Given the description of an element on the screen output the (x, y) to click on. 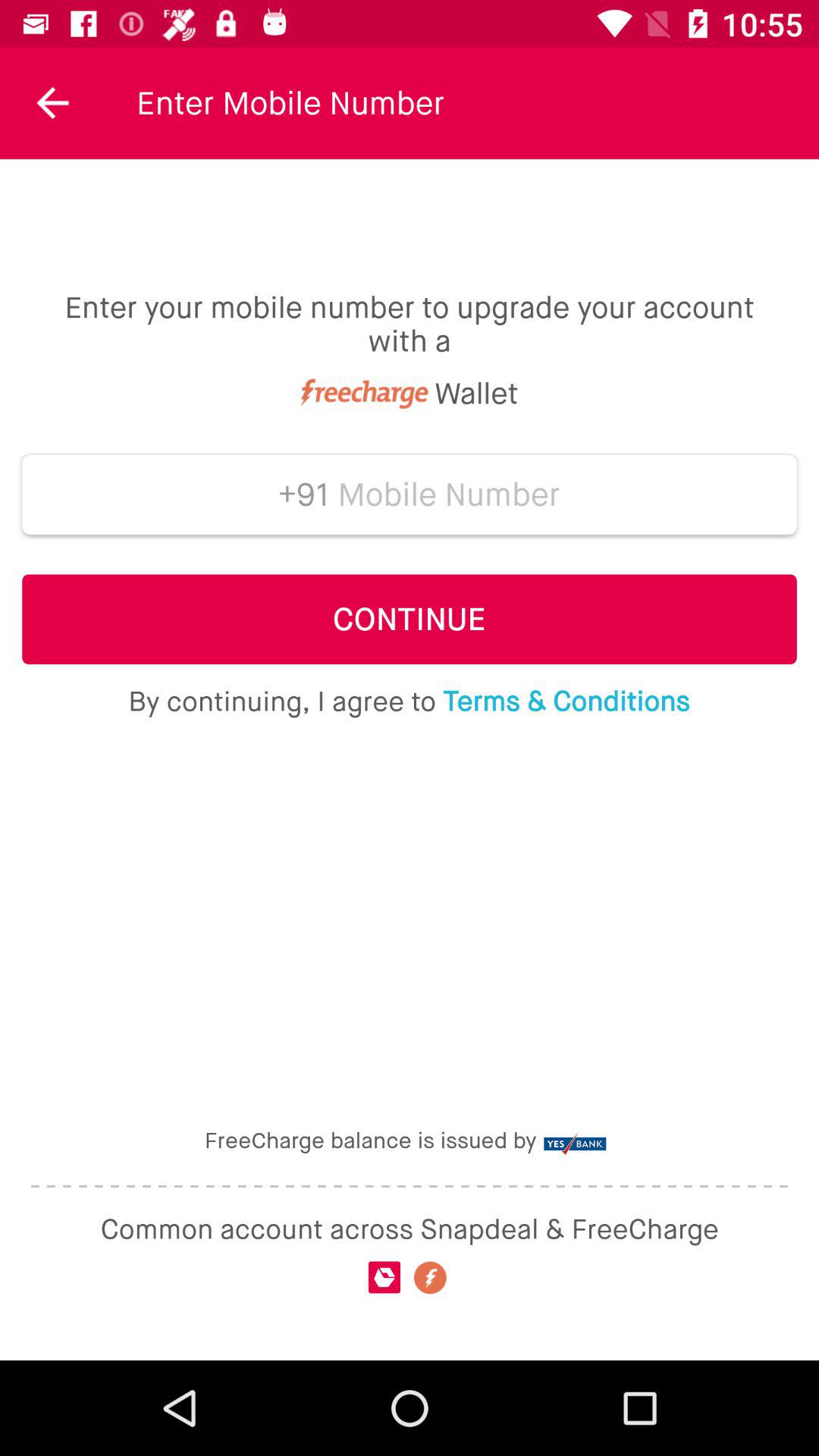
tap the item above continue (448, 494)
